Given the description of an element on the screen output the (x, y) to click on. 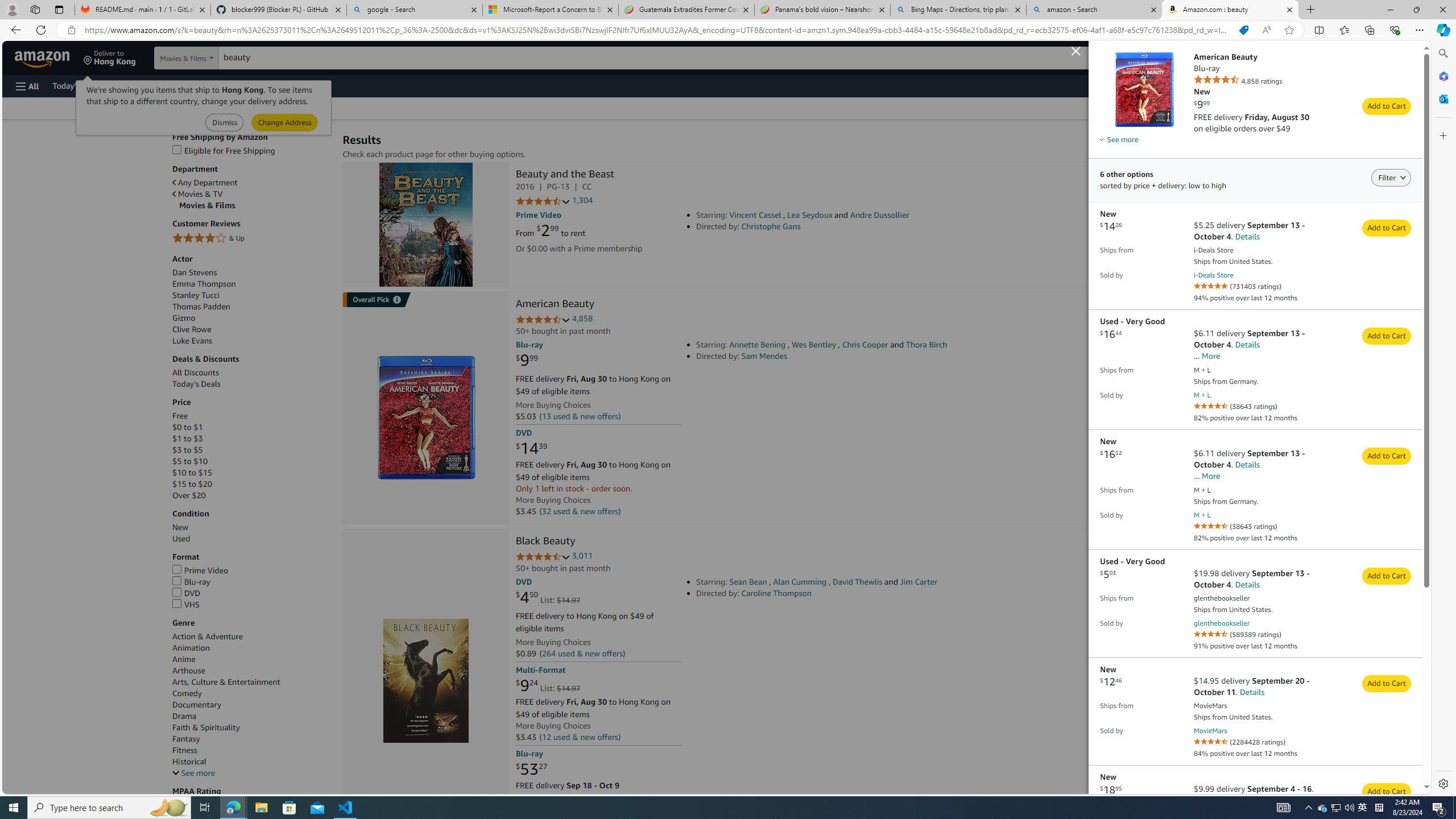
Movies & TV (251, 194)
New (180, 527)
Microsoft-Report a Concern to Bing (550, 9)
DVD (185, 592)
American Beauty (426, 417)
Restore (1416, 9)
Black Beauty (425, 681)
Documentary (251, 705)
Drama (251, 716)
Directed by: Caroline Thompson (854, 593)
Used (251, 538)
Used (180, 538)
Class: a-spacing-none a-link-normal (1143, 88)
4 Stars & Up& Up (251, 238)
